Given the description of an element on the screen output the (x, y) to click on. 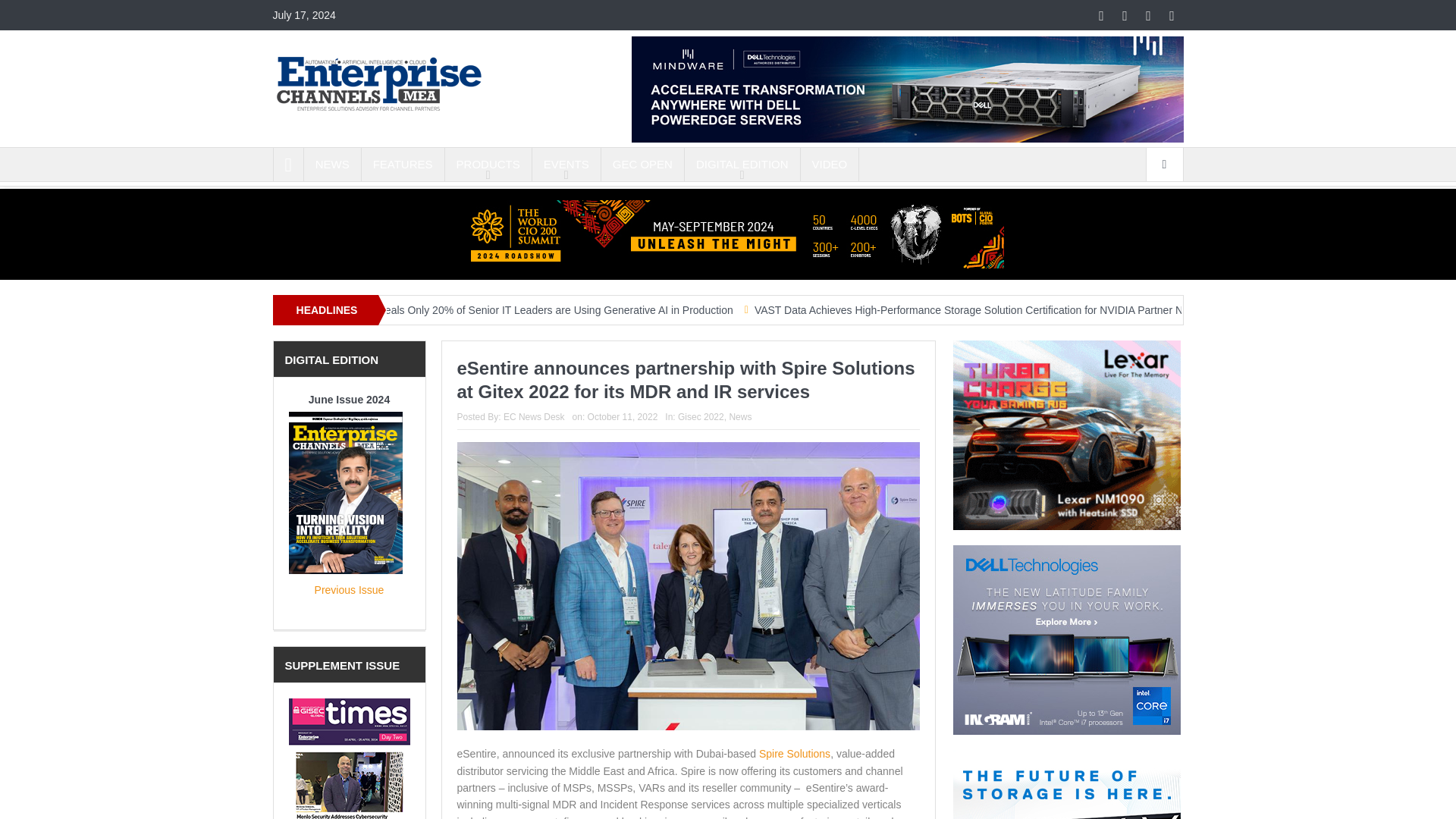
FEATURES (402, 164)
NEWS (332, 164)
EVENTS (565, 164)
View all posts in News (740, 416)
View all posts in Gisec 2022 (700, 416)
PRODUCTS (488, 164)
